Given the description of an element on the screen output the (x, y) to click on. 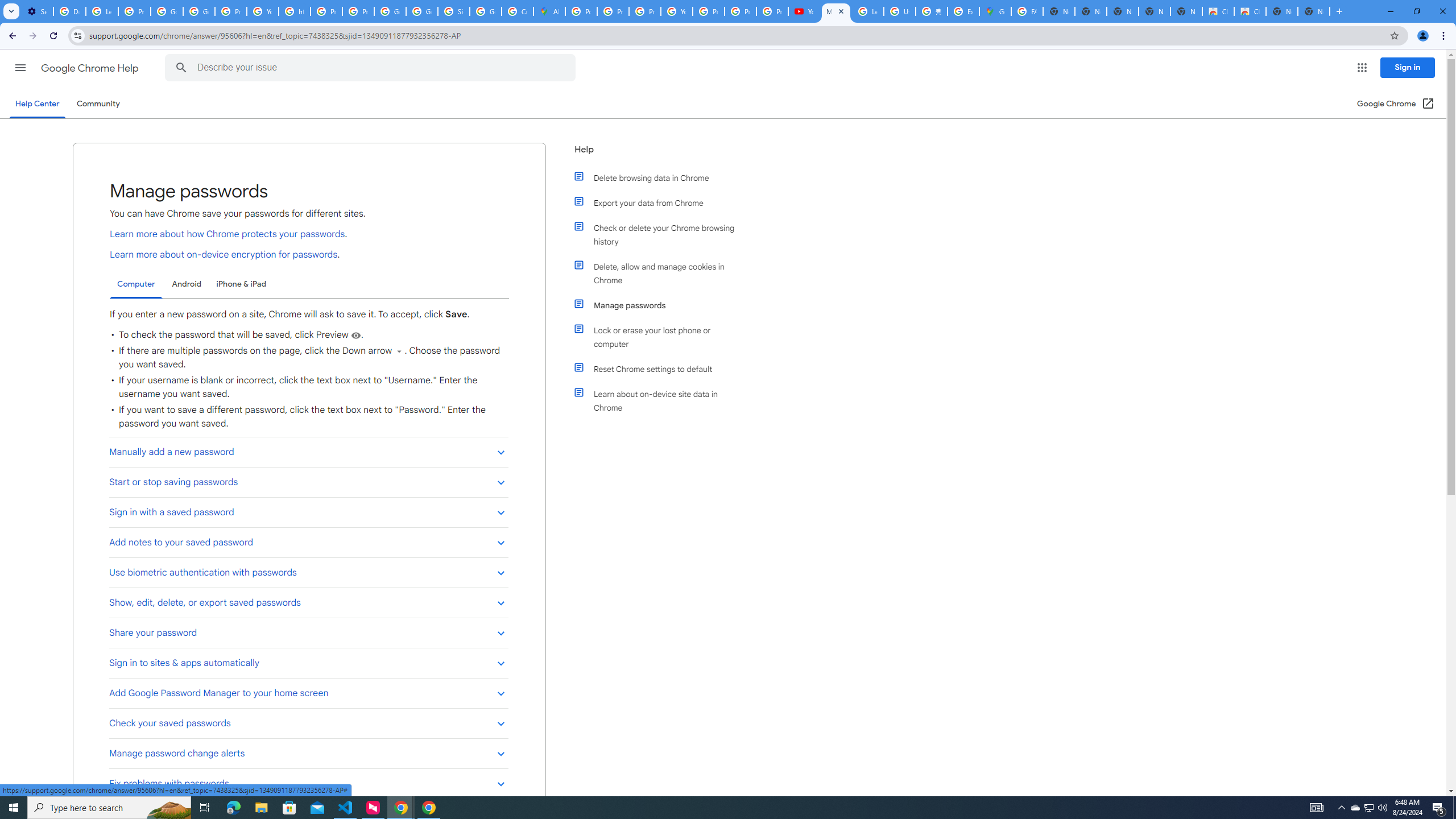
Delete photos & videos - Computer - Google Photos Help (69, 11)
Search Help Center (181, 67)
Learn about on-device site data in Chrome (661, 400)
Delete, allow and manage cookies in Chrome (661, 273)
Policy Accountability and Transparency - Transparency Center (581, 11)
Community (97, 103)
Add notes to your saved password (308, 542)
Sign in to sites & apps automatically (308, 662)
Share your password (308, 632)
